Given the description of an element on the screen output the (x, y) to click on. 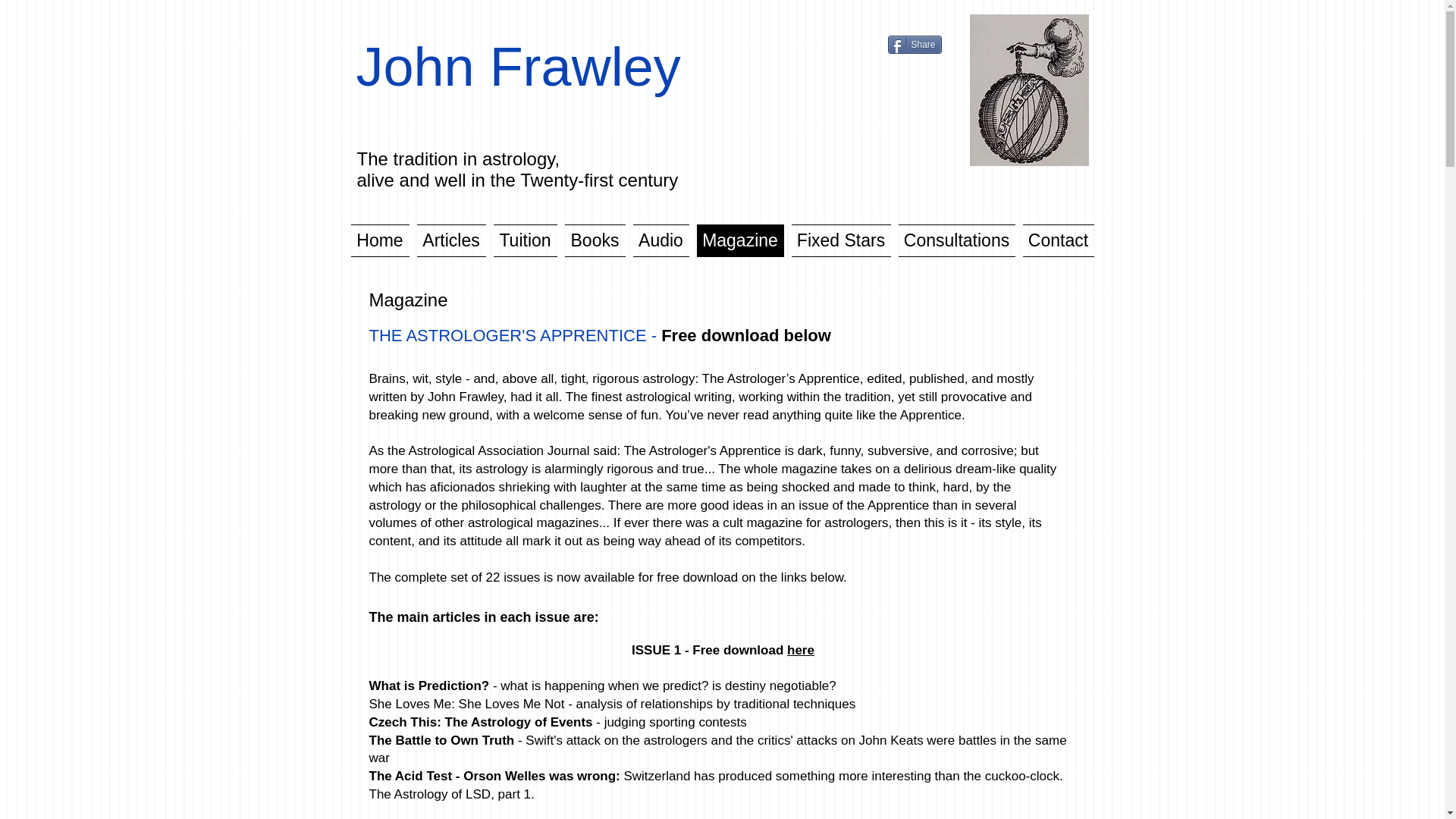
Facebook Like (915, 21)
Magazine (740, 240)
Fixed Stars (840, 240)
Consultations (957, 240)
Share (913, 45)
Articles (450, 240)
Contact (1056, 240)
Home (381, 240)
Share (913, 45)
here (800, 649)
Twitter Tweet (911, 67)
John Frawley (518, 66)
Tuition (524, 240)
Books (594, 240)
Audio (660, 240)
